Given the description of an element on the screen output the (x, y) to click on. 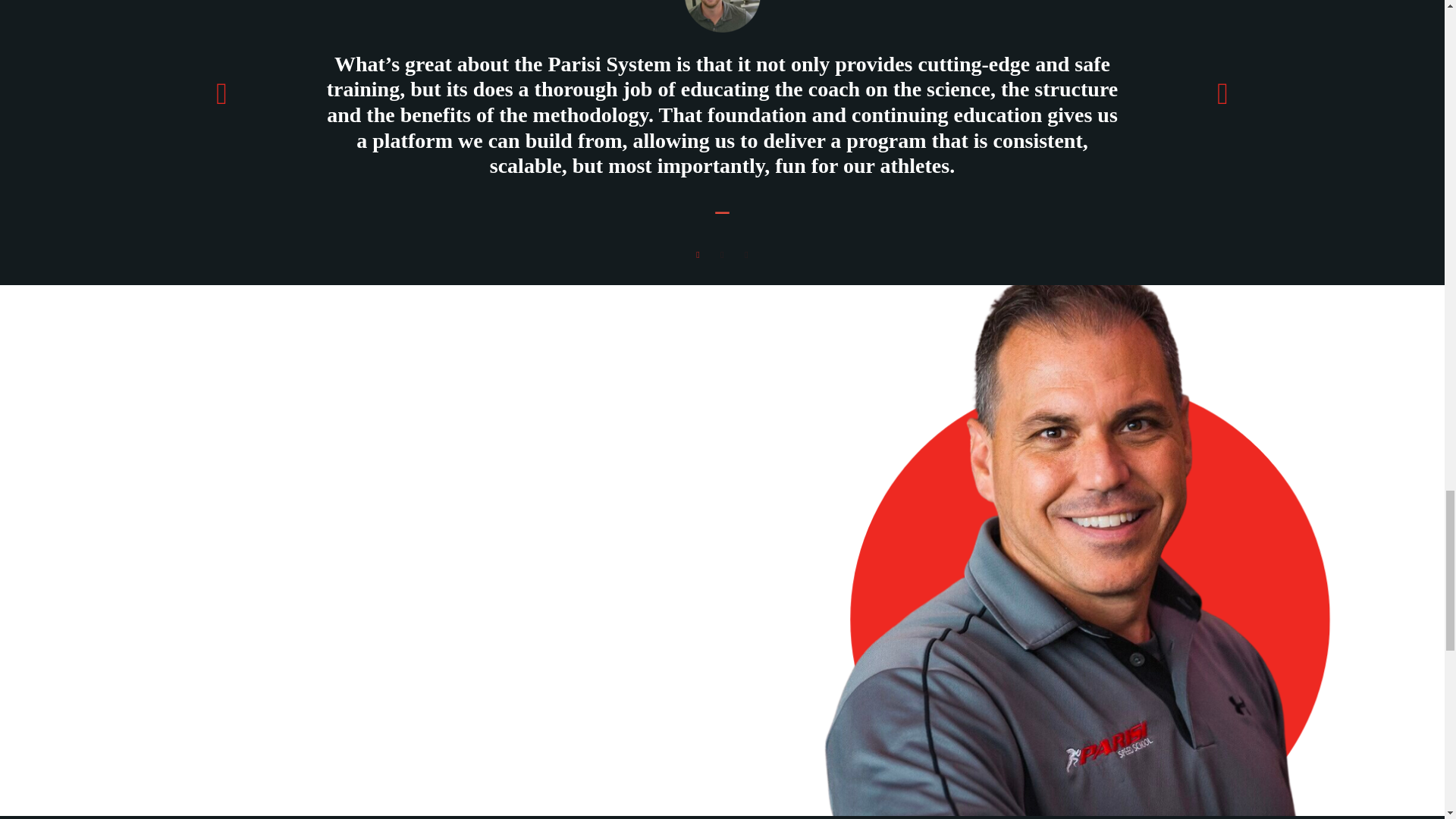
1 (697, 254)
3 (746, 254)
2 (721, 254)
